Given the description of an element on the screen output the (x, y) to click on. 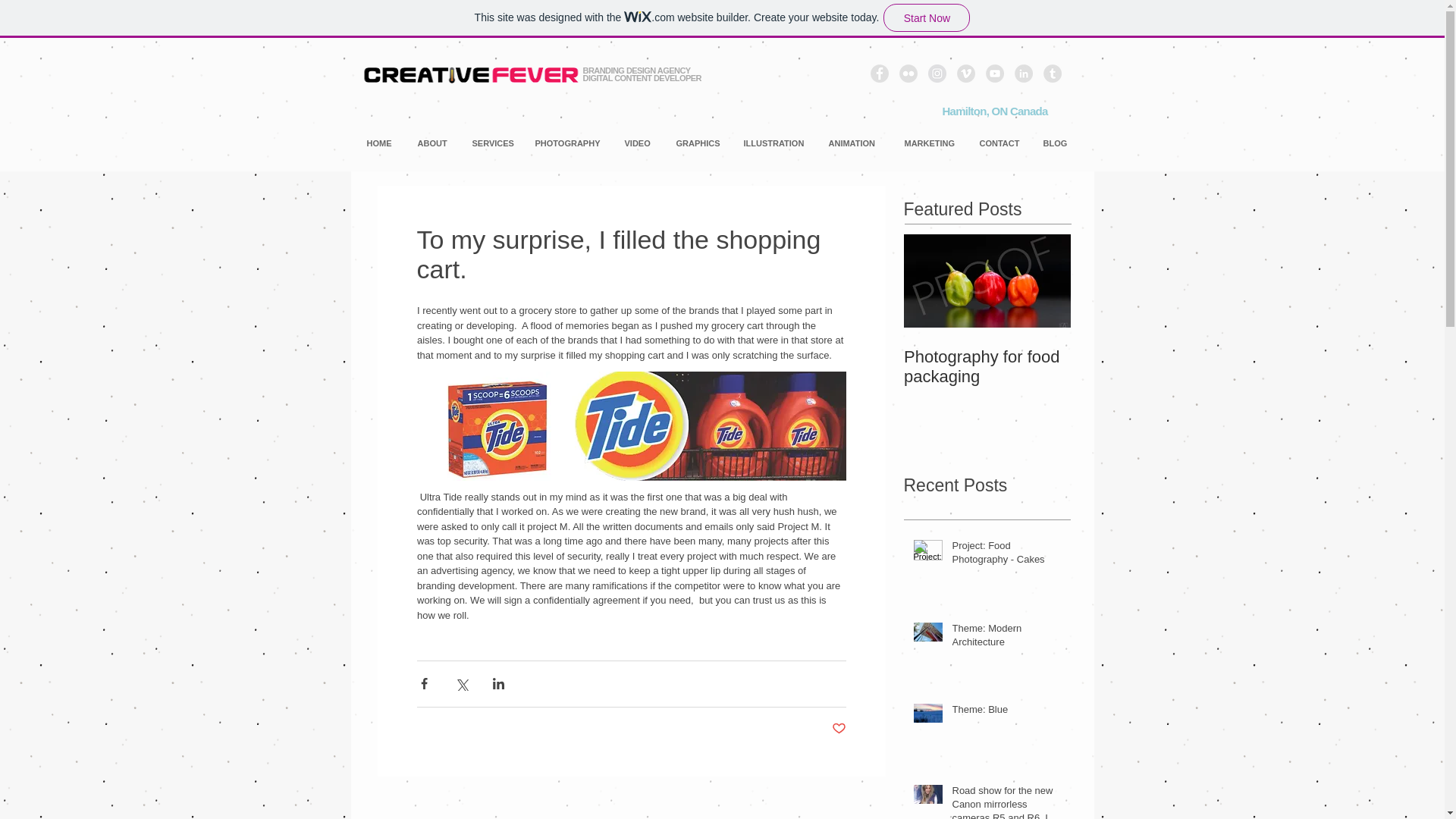
PHOTOGRAPHY (572, 142)
HOME (384, 142)
ABOUT (436, 142)
GRAPHICS (702, 142)
VIDEO (642, 142)
SERVICES (495, 142)
ILLUSTRATION (778, 142)
CreativeFeverLogoBlackFull.png (470, 75)
